Given the description of an element on the screen output the (x, y) to click on. 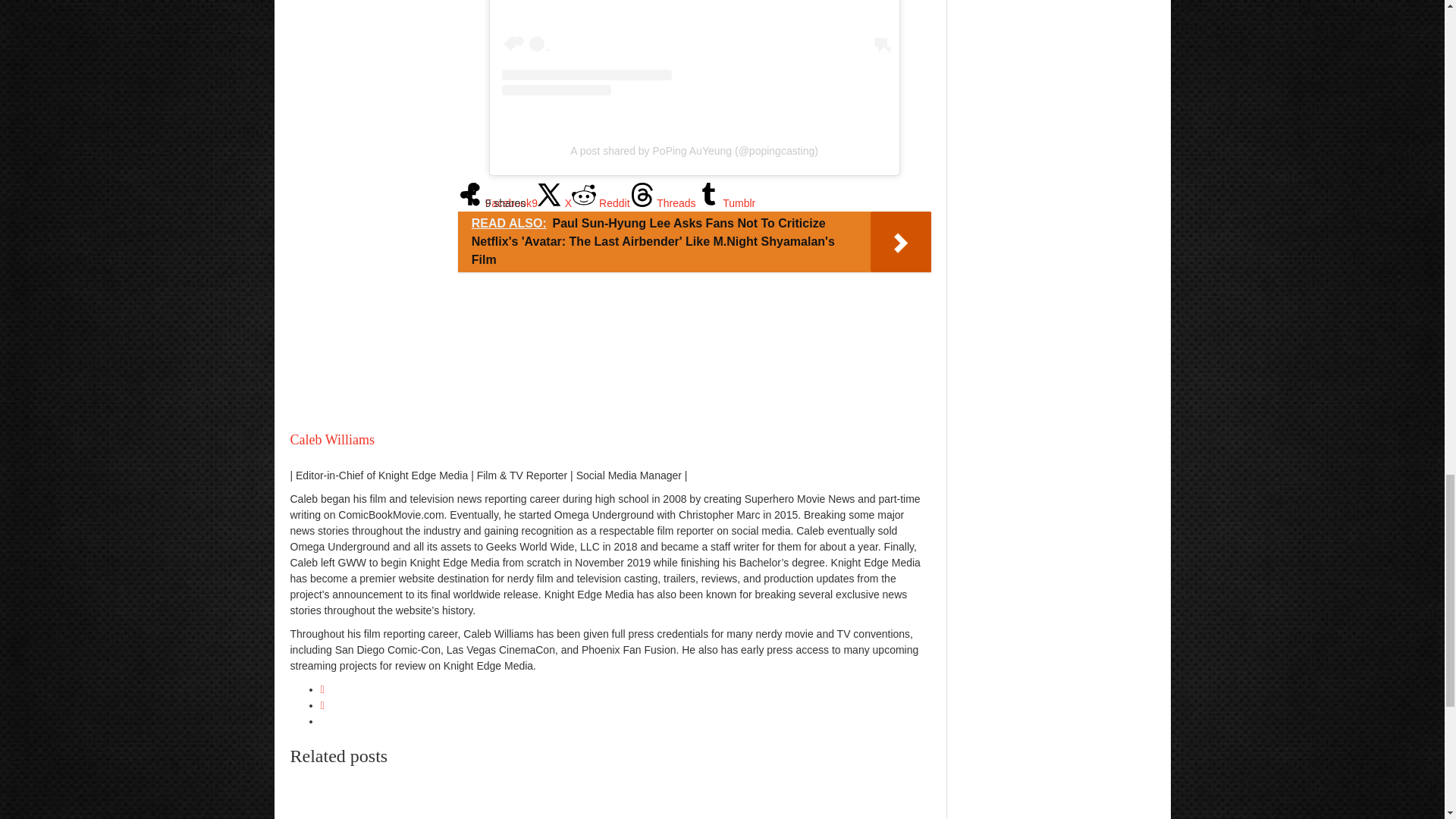
Share on Reddit (600, 203)
Share on Tumblr (725, 203)
Posts by Caleb Williams (331, 439)
Share on Threads (662, 203)
Share on Facebook (497, 203)
Share on X (554, 203)
